Given the description of an element on the screen output the (x, y) to click on. 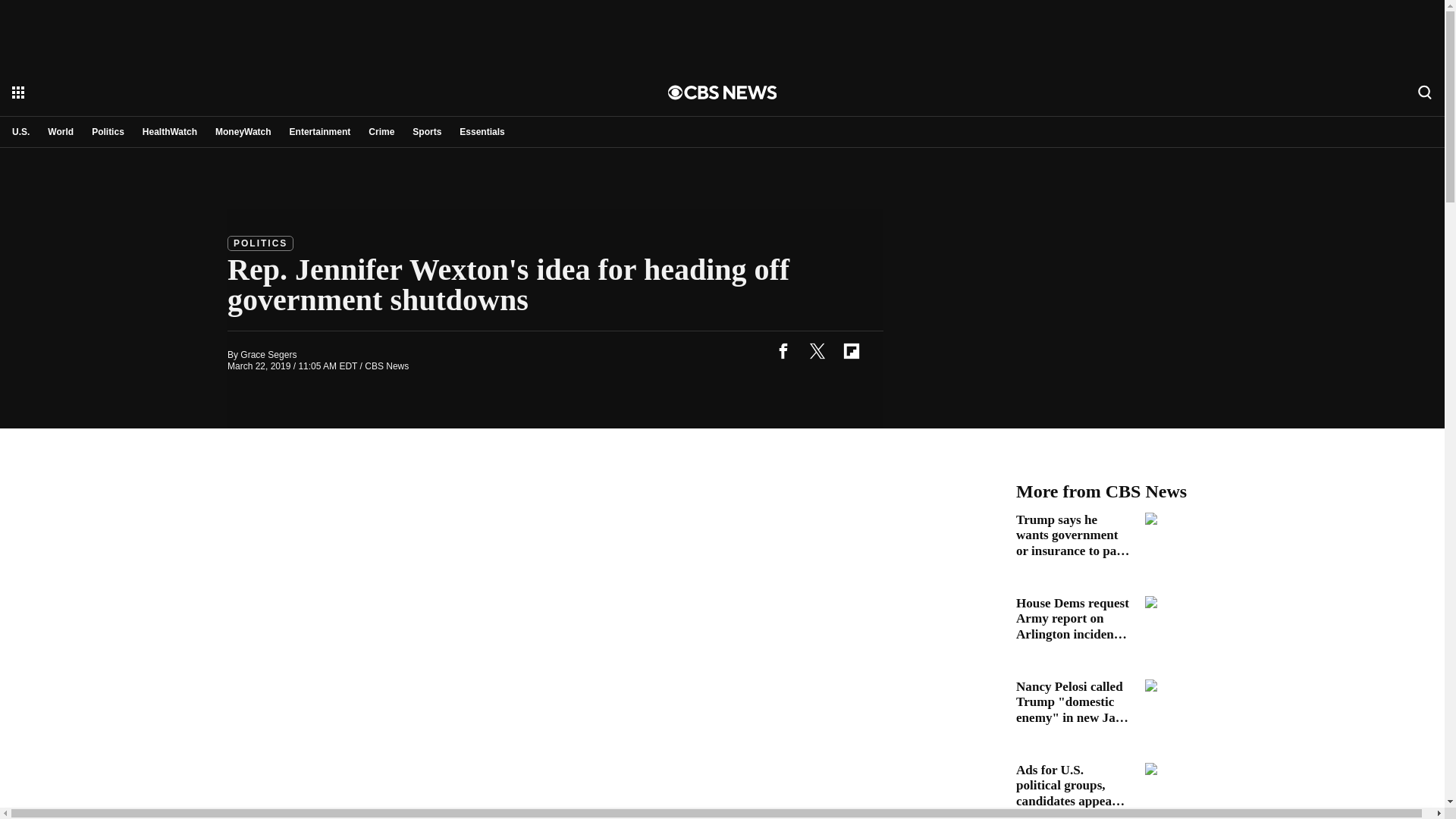
twitter (816, 350)
flipboard (850, 350)
facebook (782, 350)
